Given the description of an element on the screen output the (x, y) to click on. 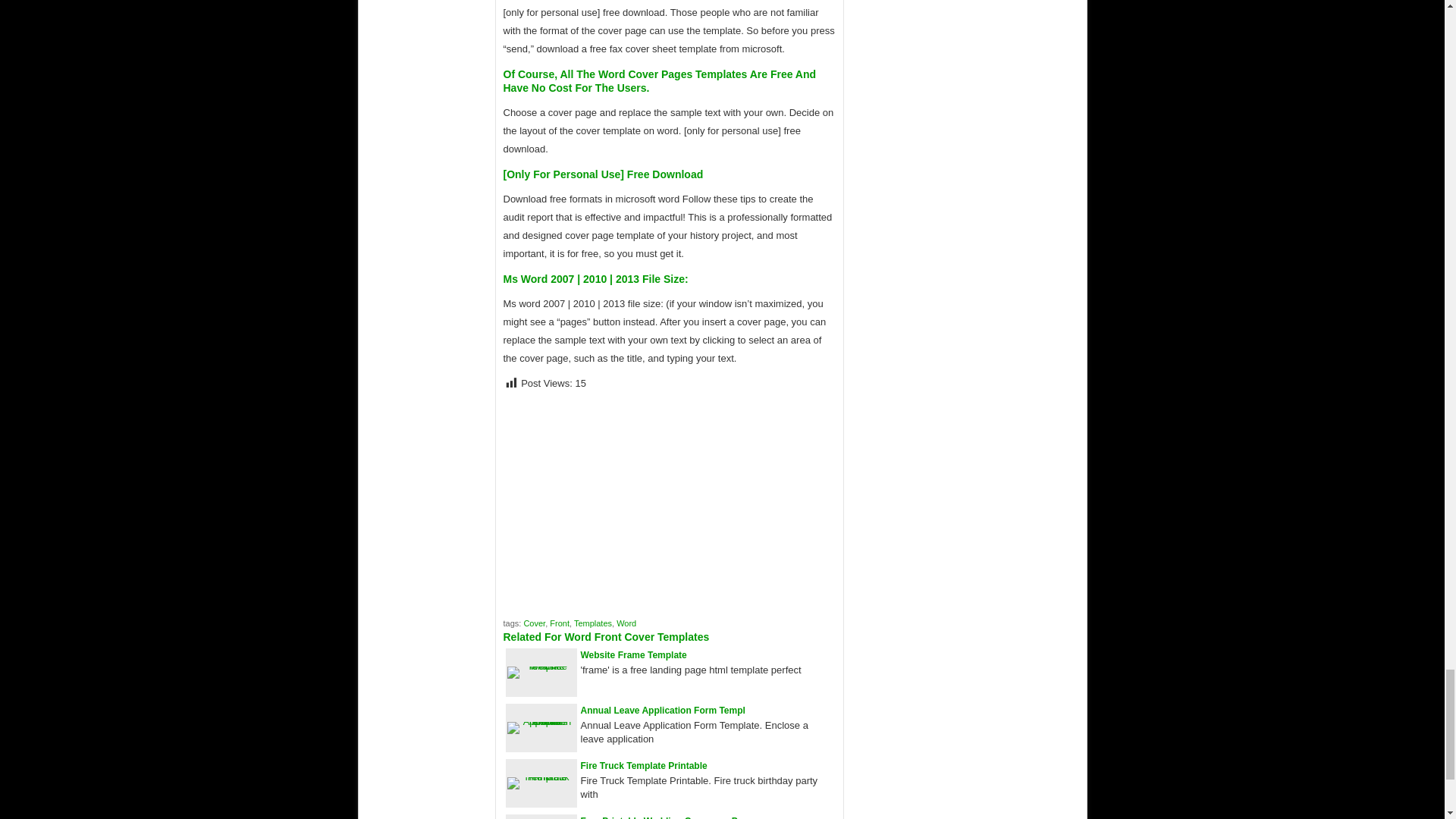
Annual Leave Application Form Template (662, 710)
Annual Leave Application Form Templ (662, 710)
Front (559, 623)
Website Frame Template (633, 655)
Cover (533, 623)
Website Frame Template (540, 665)
Fire Truck Template Printable (643, 765)
Fire Truck Template Printable (540, 776)
Fire Truck Template Printable (643, 765)
Word (625, 623)
